Given the description of an element on the screen output the (x, y) to click on. 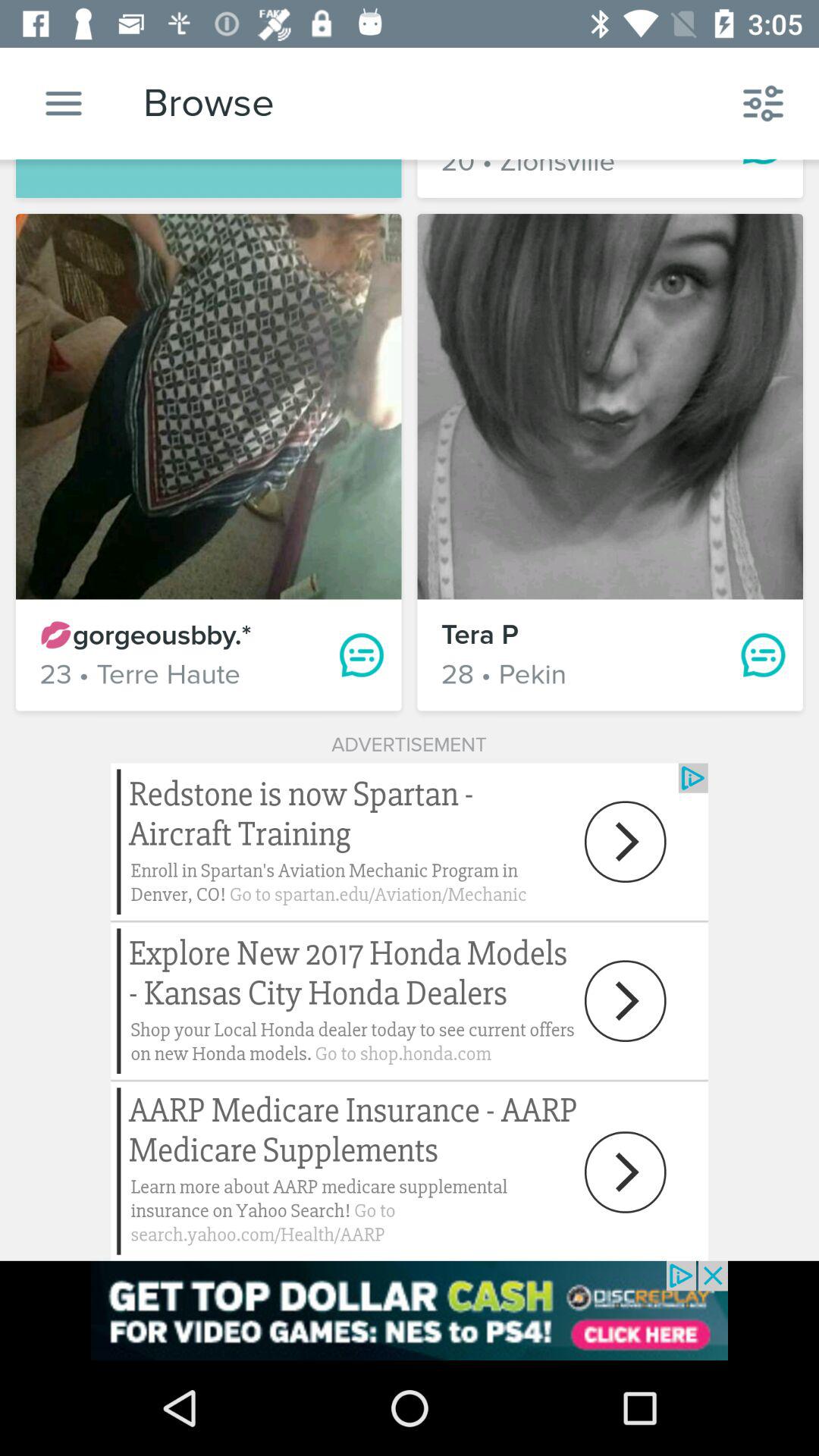
open advertisement (409, 1310)
